Given the description of an element on the screen output the (x, y) to click on. 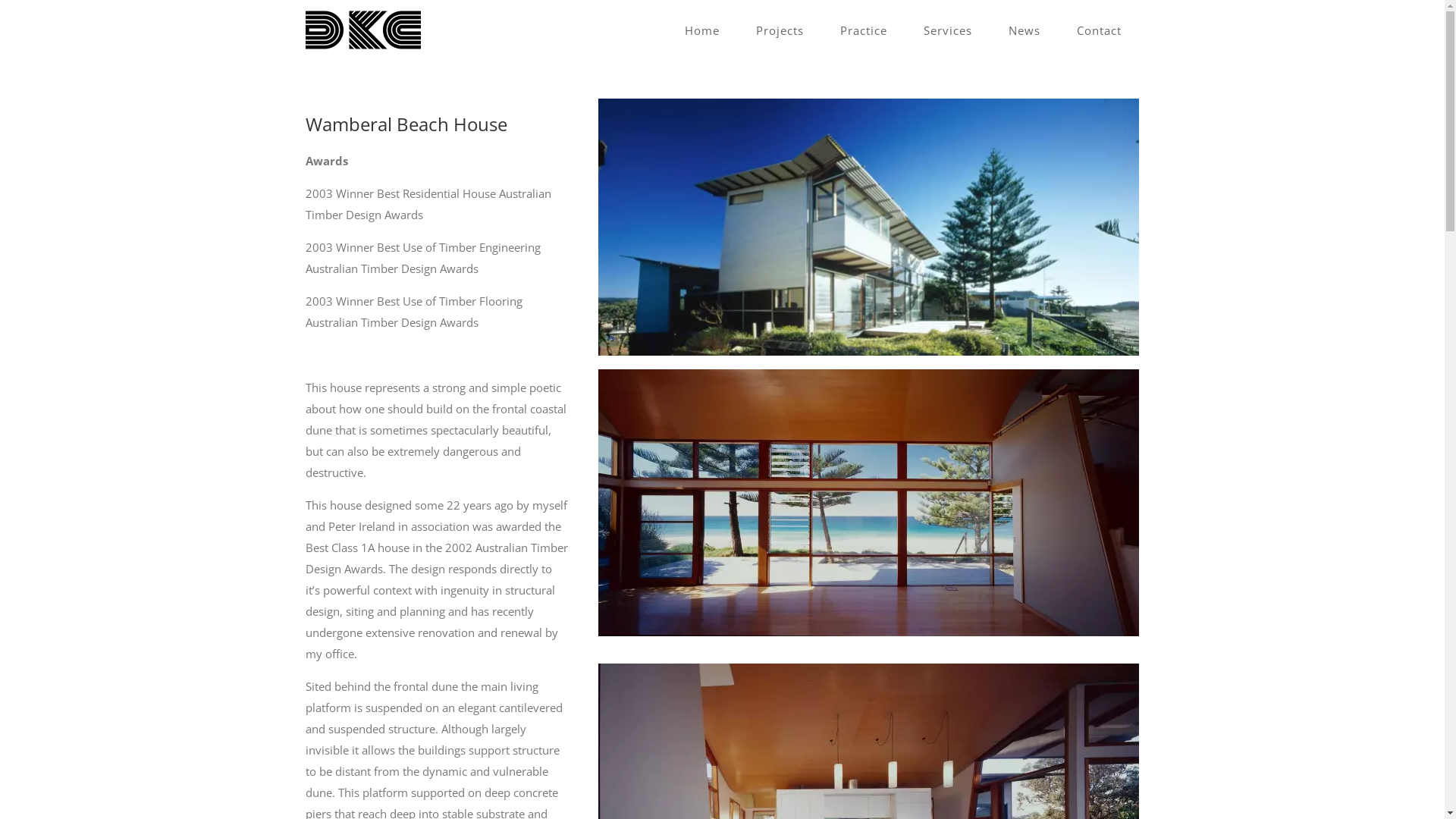
News Element type: text (1024, 30)
Contact Element type: text (1098, 30)
Services Element type: text (947, 30)
Home Element type: text (701, 30)
Practice Element type: text (863, 30)
Design King Company Element type: hover (868, 226)
Wamberal_1920Ls_Optimised Element type: hover (868, 502)
Projects Element type: text (779, 30)
